Given the description of an element on the screen output the (x, y) to click on. 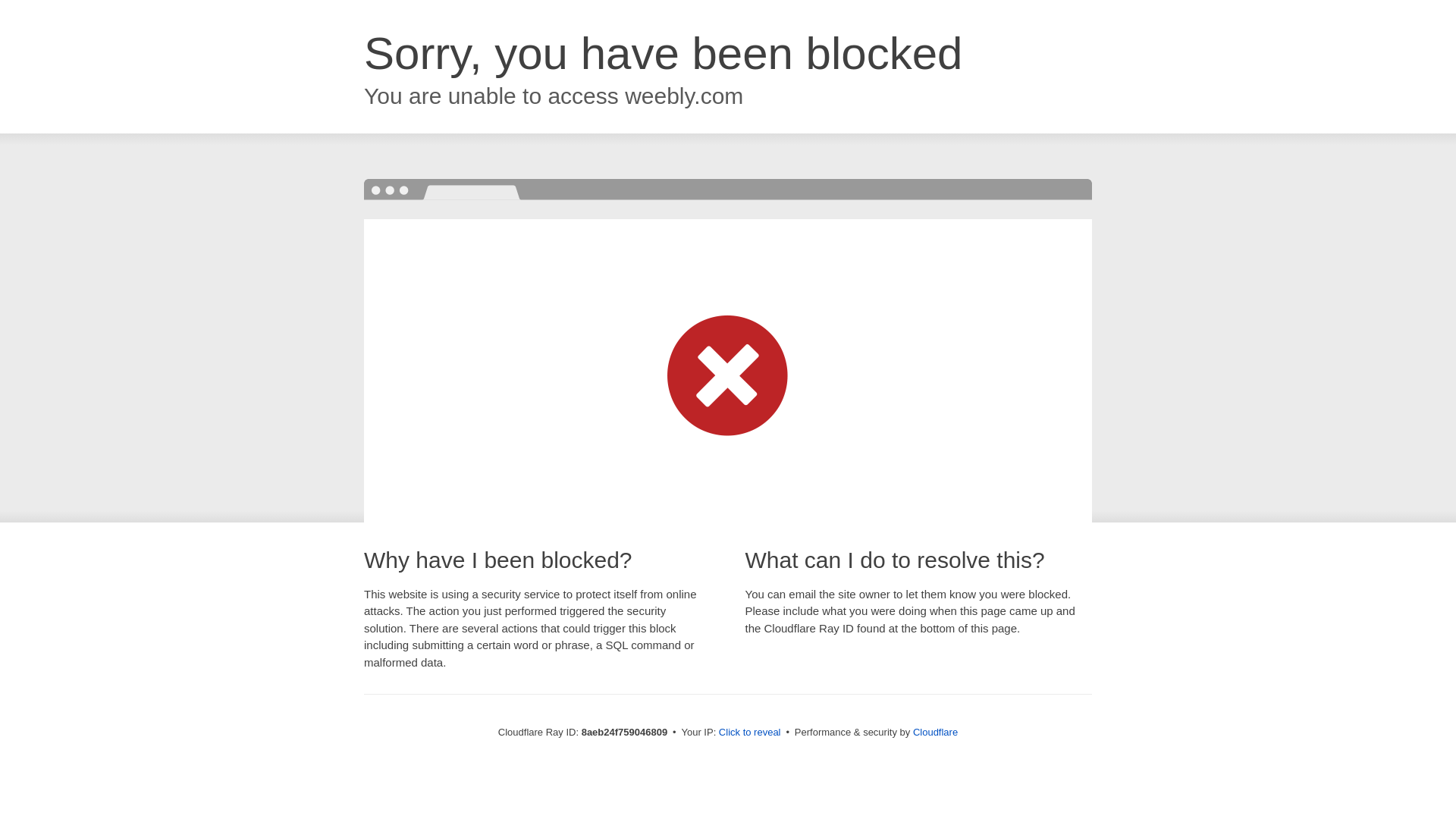
Click to reveal (749, 732)
Cloudflare (935, 731)
